Given the description of an element on the screen output the (x, y) to click on. 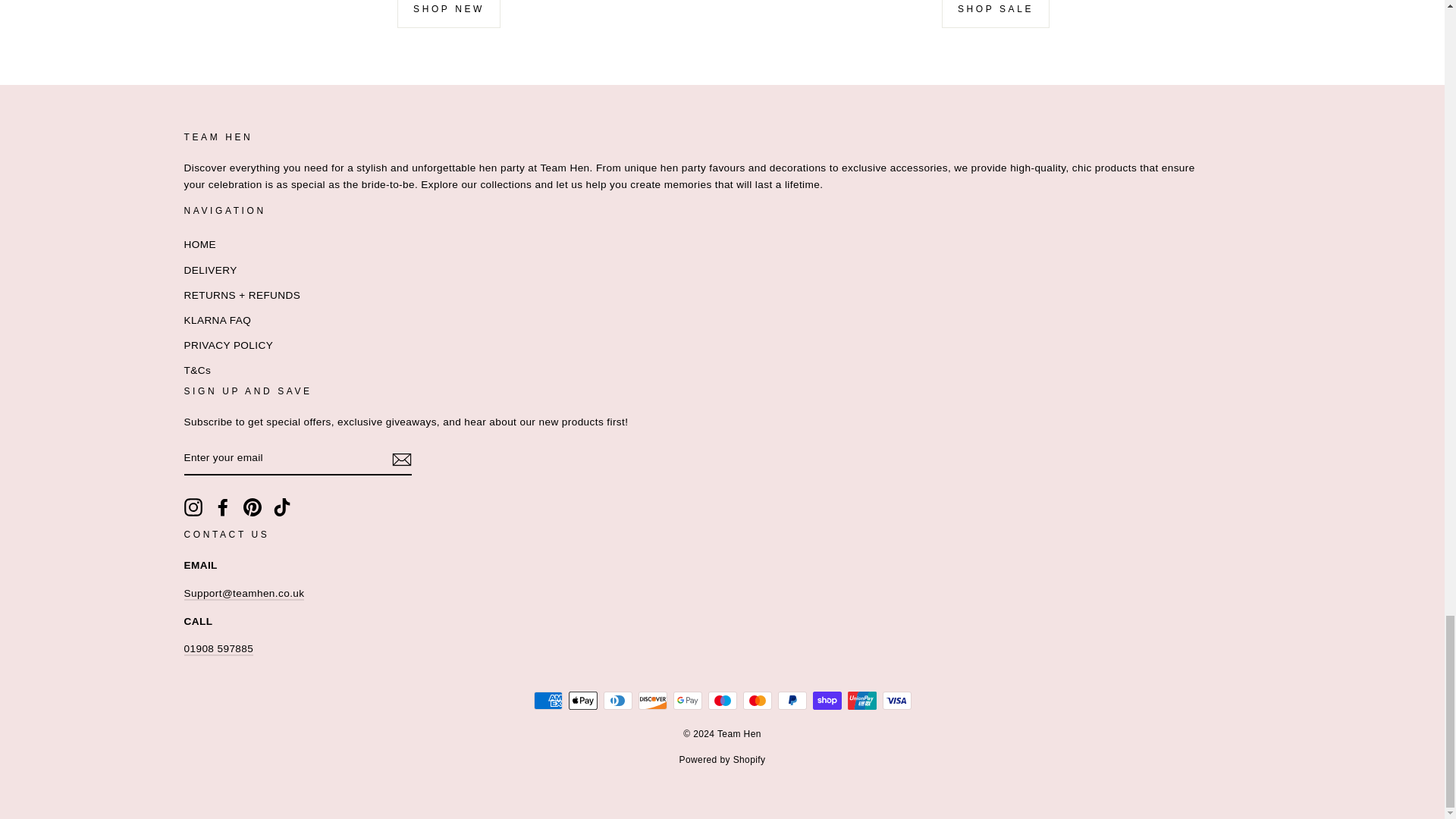
Team Hen on Pinterest (251, 506)
American Express (548, 700)
Apple Pay (582, 700)
Team Hen on Facebook (222, 506)
Team Hen on Instagram (192, 506)
Team Hen on TikTok (282, 506)
